Given the description of an element on the screen output the (x, y) to click on. 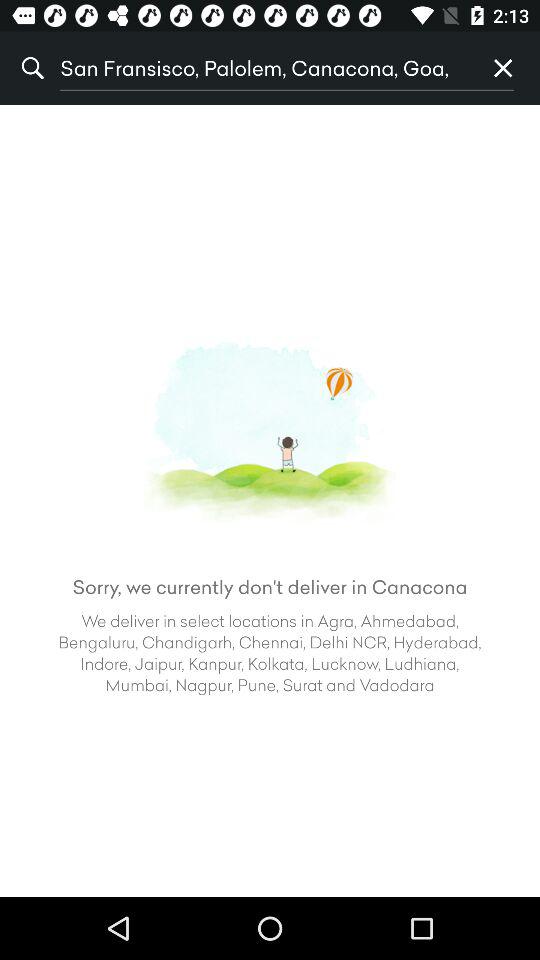
turn on the item to the right of the % (263, 68)
